Given the description of an element on the screen output the (x, y) to click on. 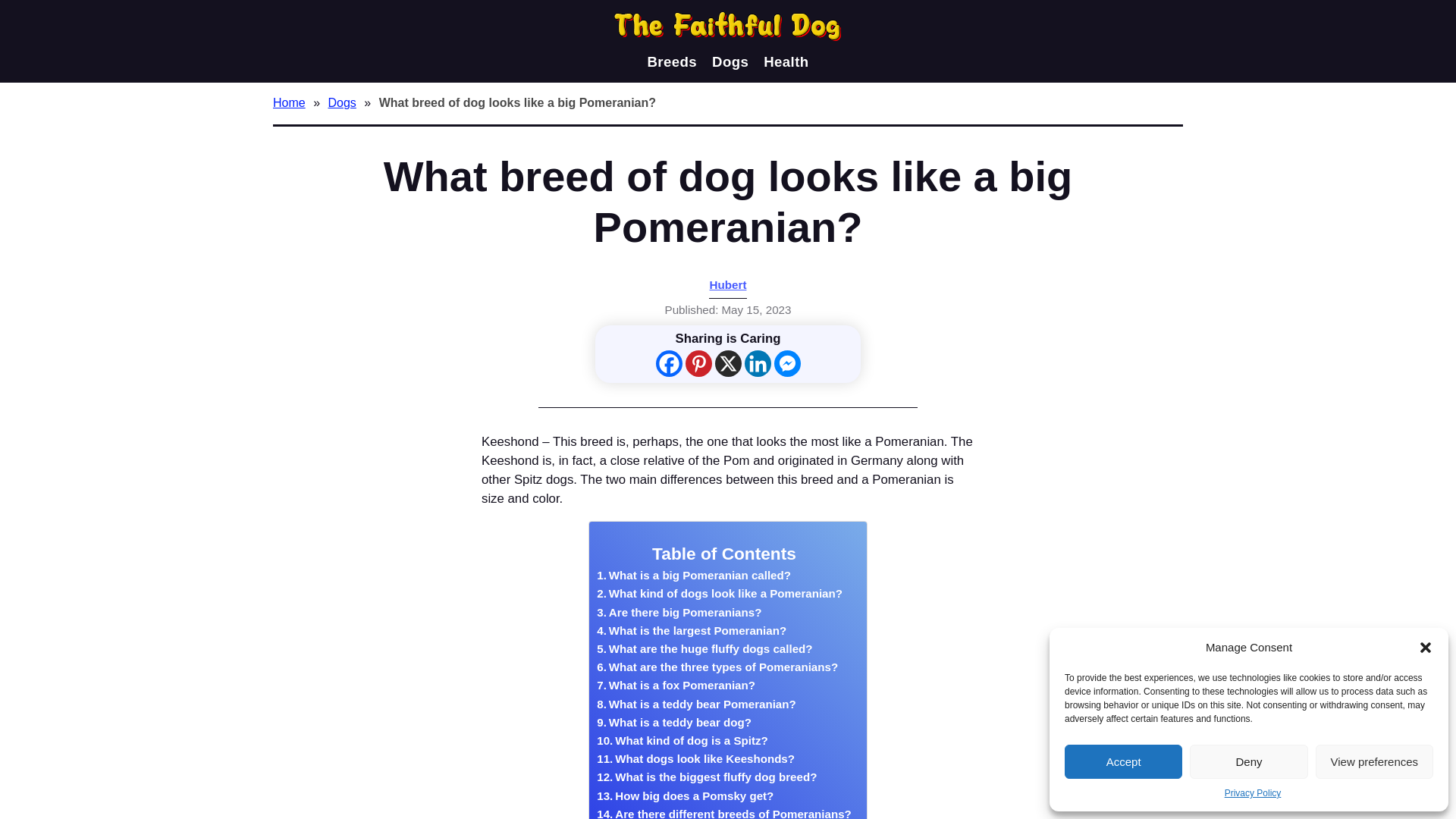
X (727, 363)
View preferences (1374, 761)
What are the huge fluffy dogs called? (704, 648)
What kind of dog is a Spitz? (681, 741)
Facebook (668, 363)
What kind of dogs look like a Pomeranian? (719, 593)
What is the largest Pomeranian? (691, 630)
Breeds (671, 62)
Linkedin (757, 363)
What is the largest Pomeranian? (691, 630)
What are the huge fluffy dogs called? (704, 648)
Accept (1123, 761)
What are the three types of Pomeranians? (717, 667)
Are there big Pomeranians? (678, 612)
What kind of dog is a Spitz? (681, 741)
